Given the description of an element on the screen output the (x, y) to click on. 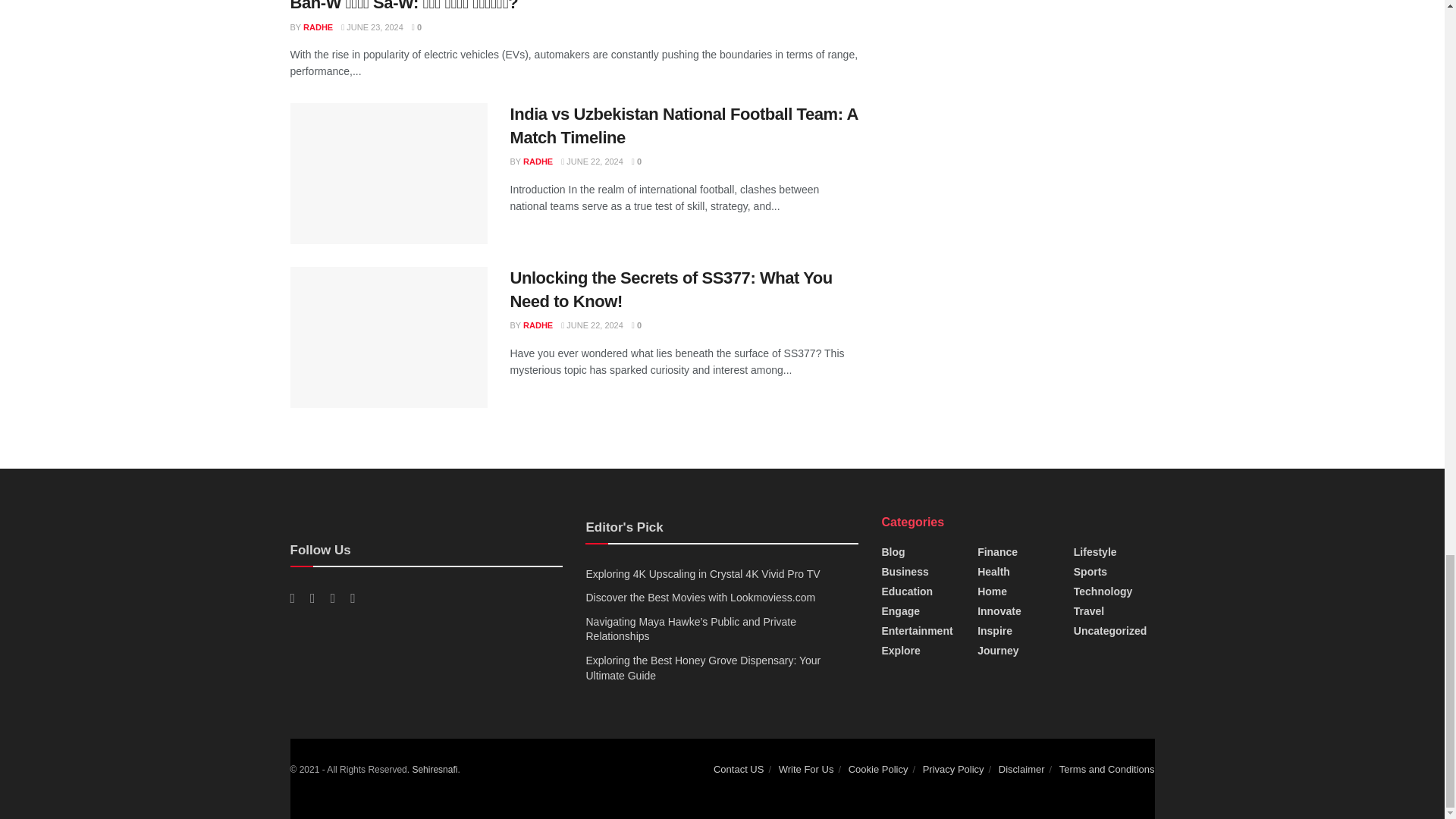
sehiresnafi (434, 769)
